Given the description of an element on the screen output the (x, y) to click on. 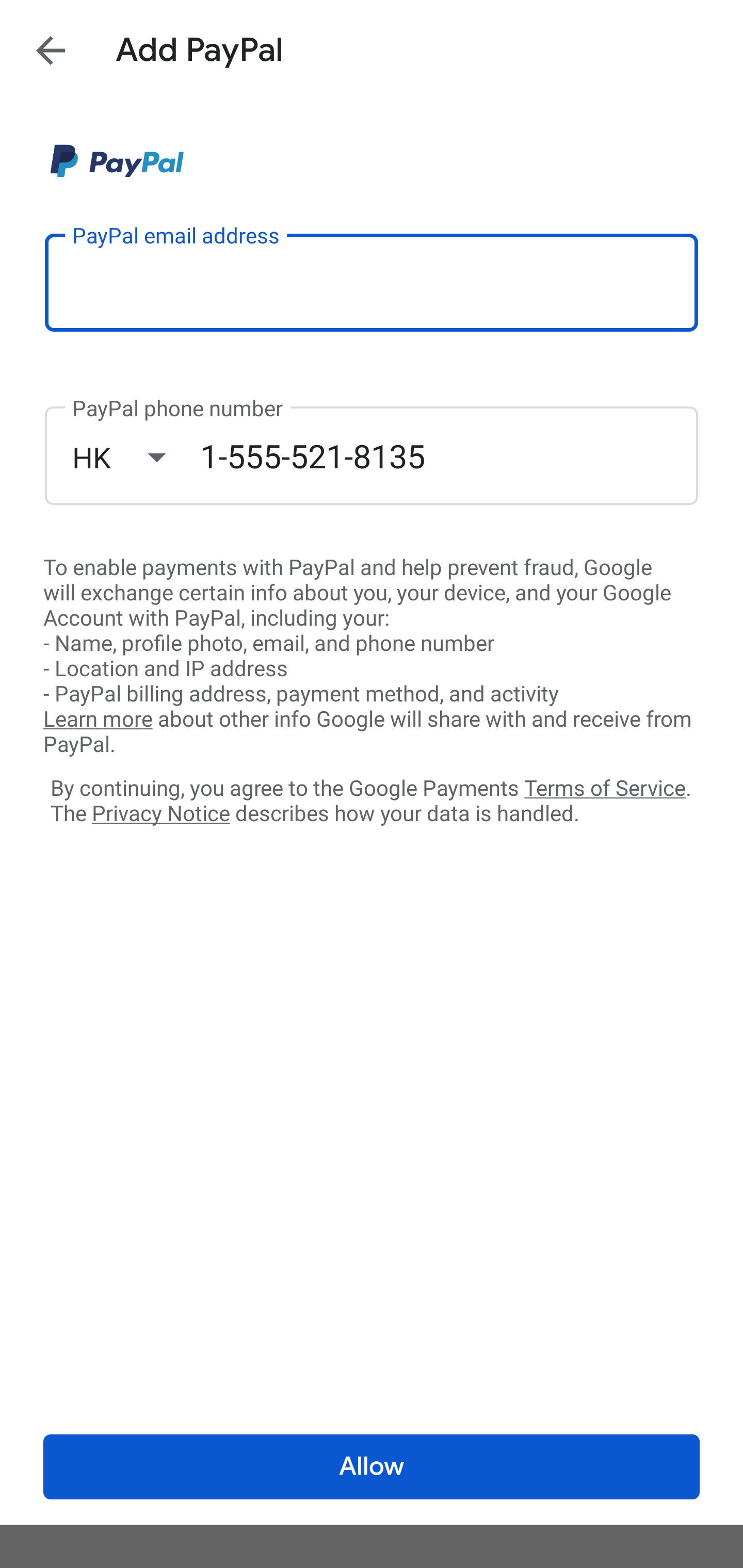
Navigate up (50, 50)
PayPal email address (371, 282)
HK (135, 456)
Learn more (97, 719)
Terms of Service (604, 787)
Privacy Notice (160, 814)
Allow (371, 1466)
